Given the description of an element on the screen output the (x, y) to click on. 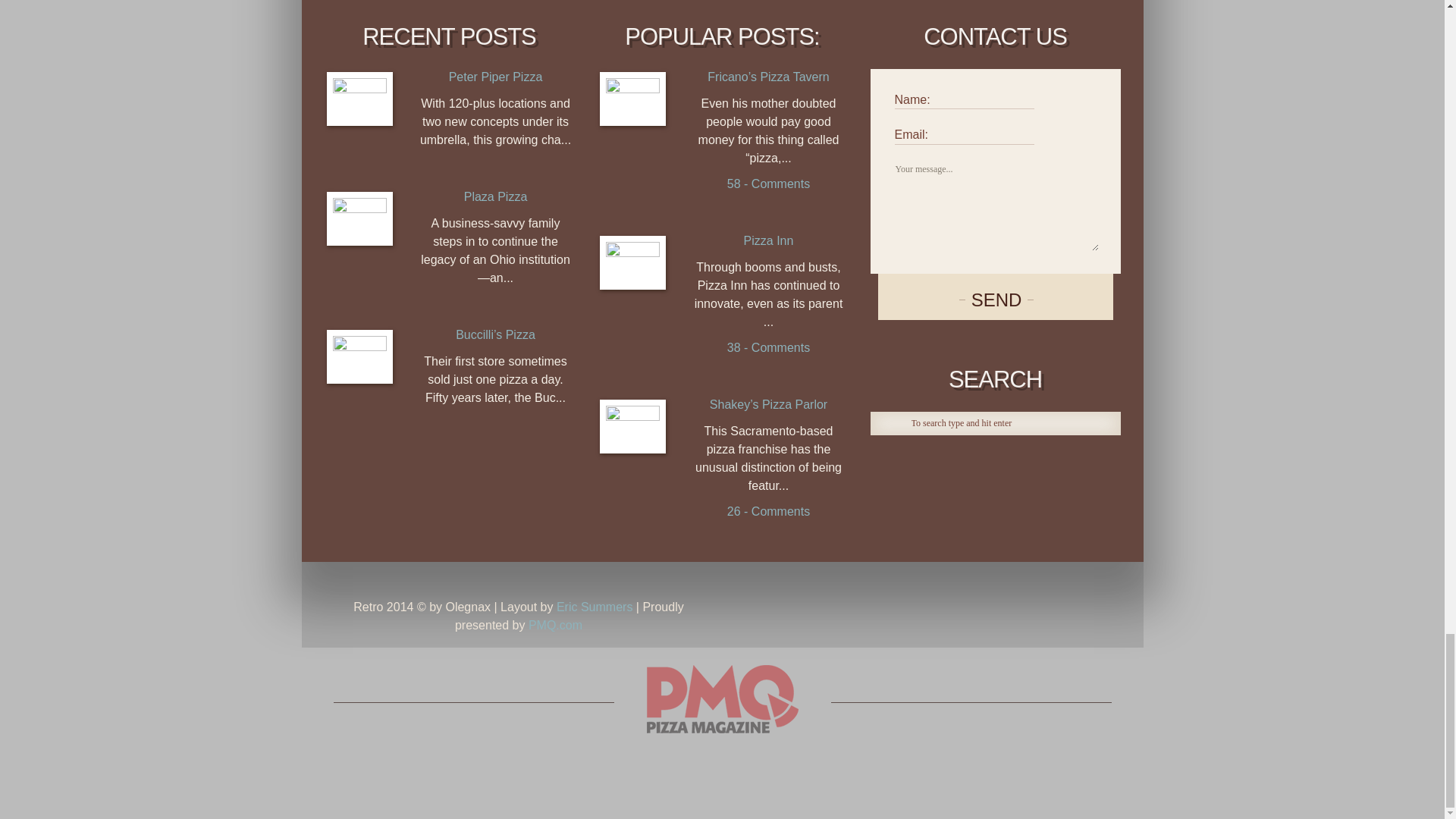
Plaza Pizza (358, 218)
Plaza Pizza (495, 196)
Search (889, 427)
Peter Piper Pizza (358, 99)
Peter Piper Pizza (495, 77)
